Given the description of an element on the screen output the (x, y) to click on. 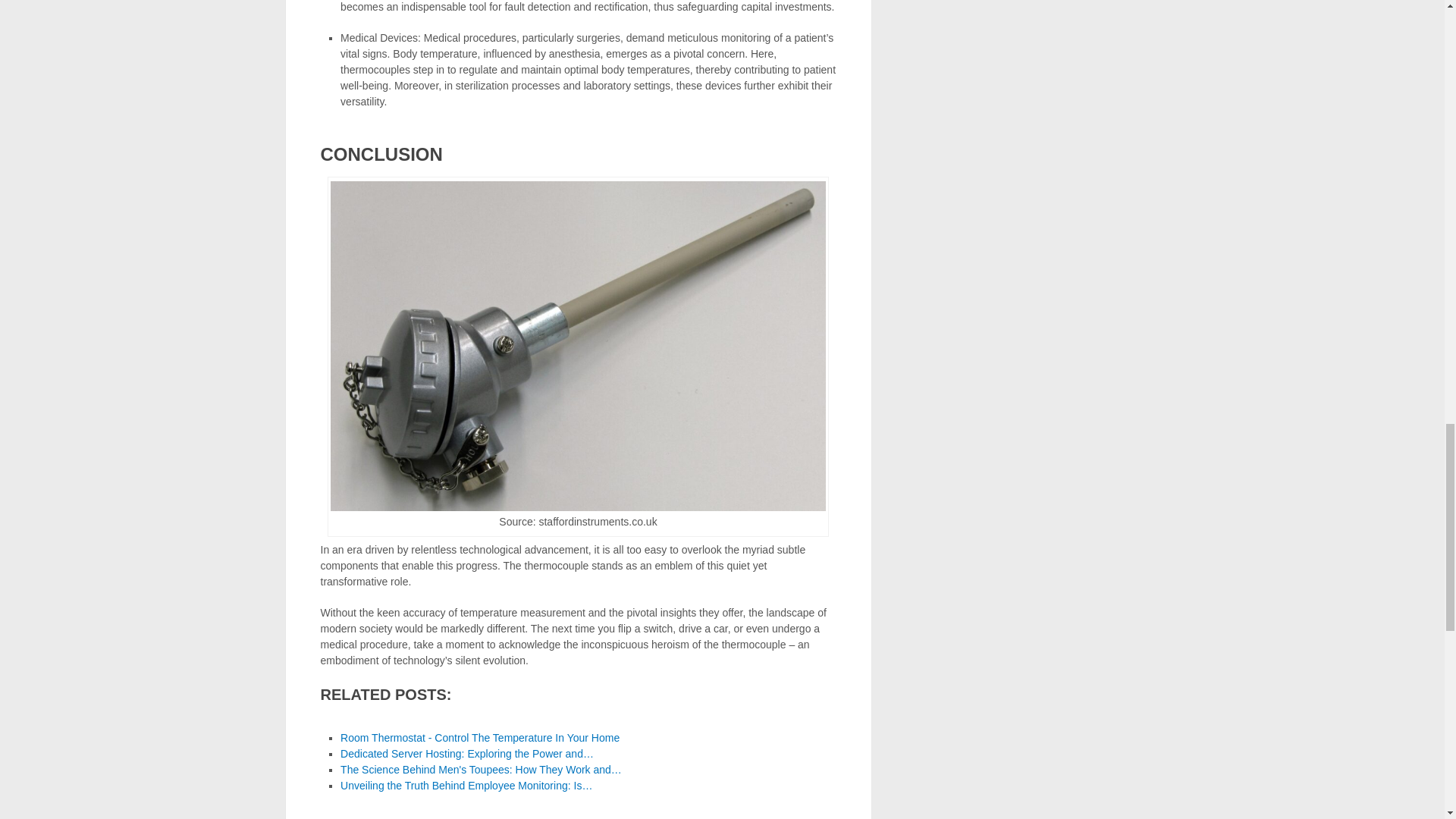
Room Thermostat - Control The Temperature In Your Home (480, 737)
